Given the description of an element on the screen output the (x, y) to click on. 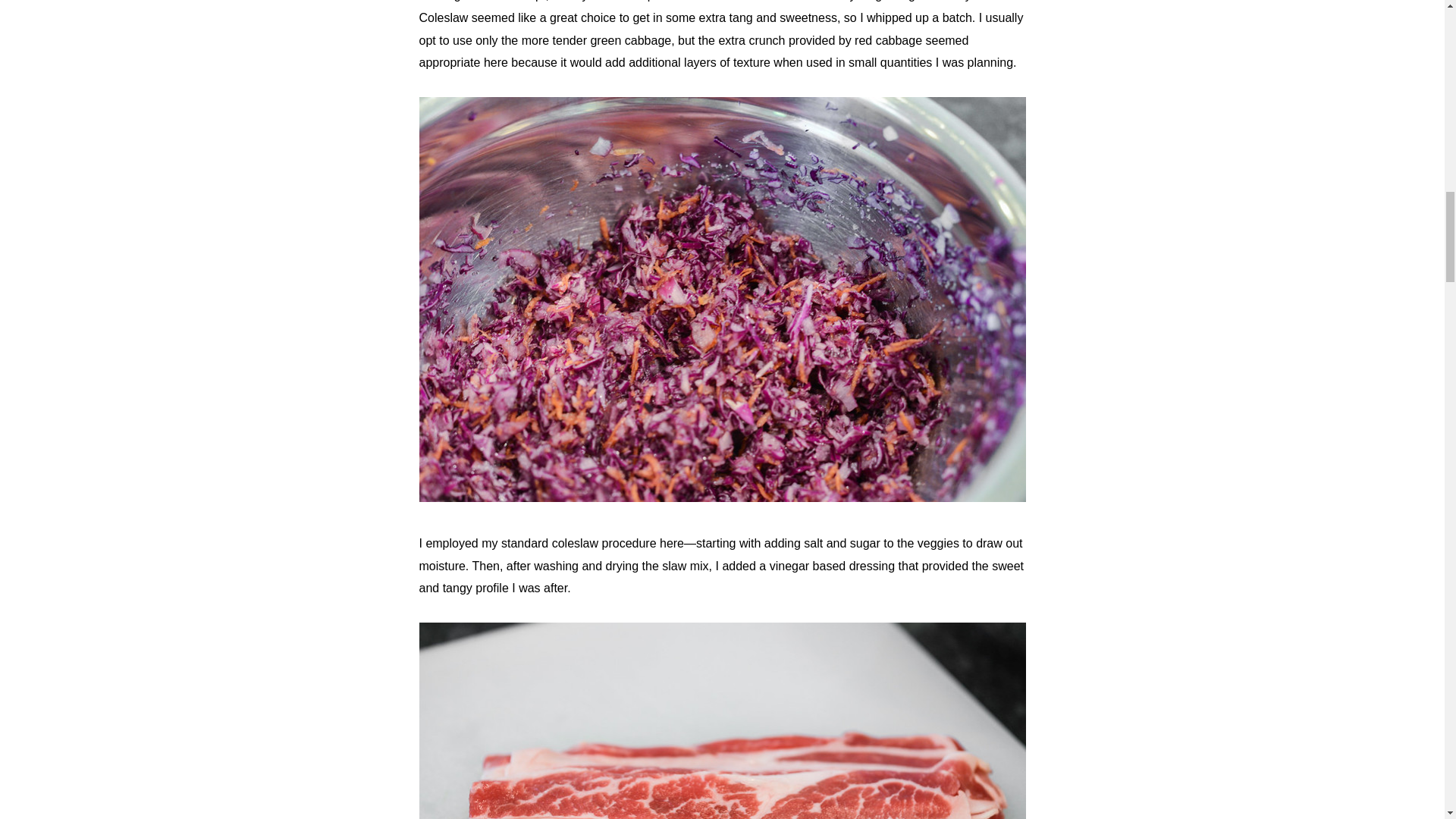
Barbecue Beef Lettuce Wraps (722, 497)
